Given the description of an element on the screen output the (x, y) to click on. 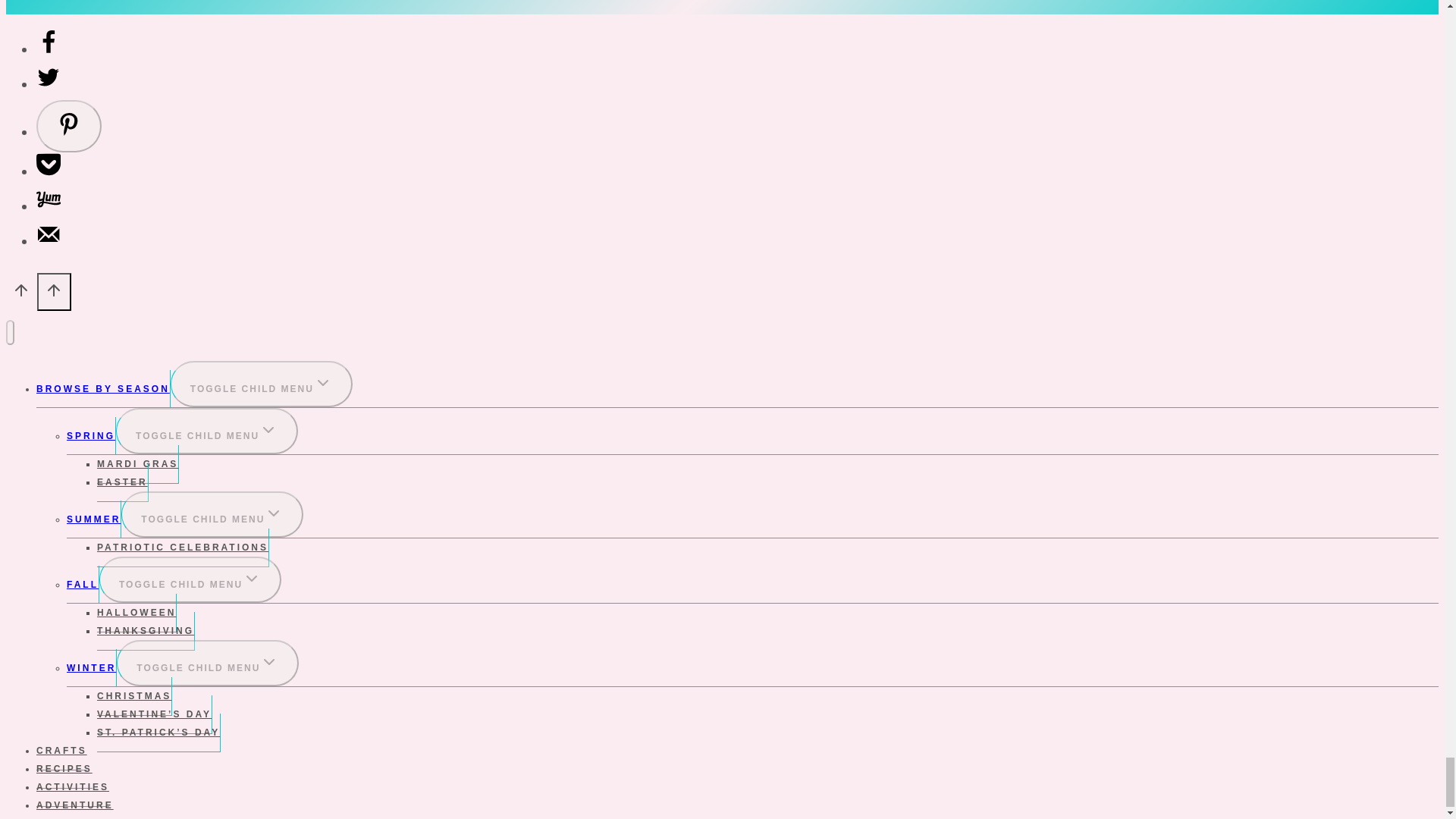
Share on Yummly (48, 205)
Save to Pinterest (68, 125)
SCROLL TO TOP (54, 291)
Share on Pocket (48, 170)
Share on Facebook (48, 48)
Send over email (48, 240)
Scroll to top (21, 293)
Share on Twitter (48, 83)
